Given the description of an element on the screen output the (x, y) to click on. 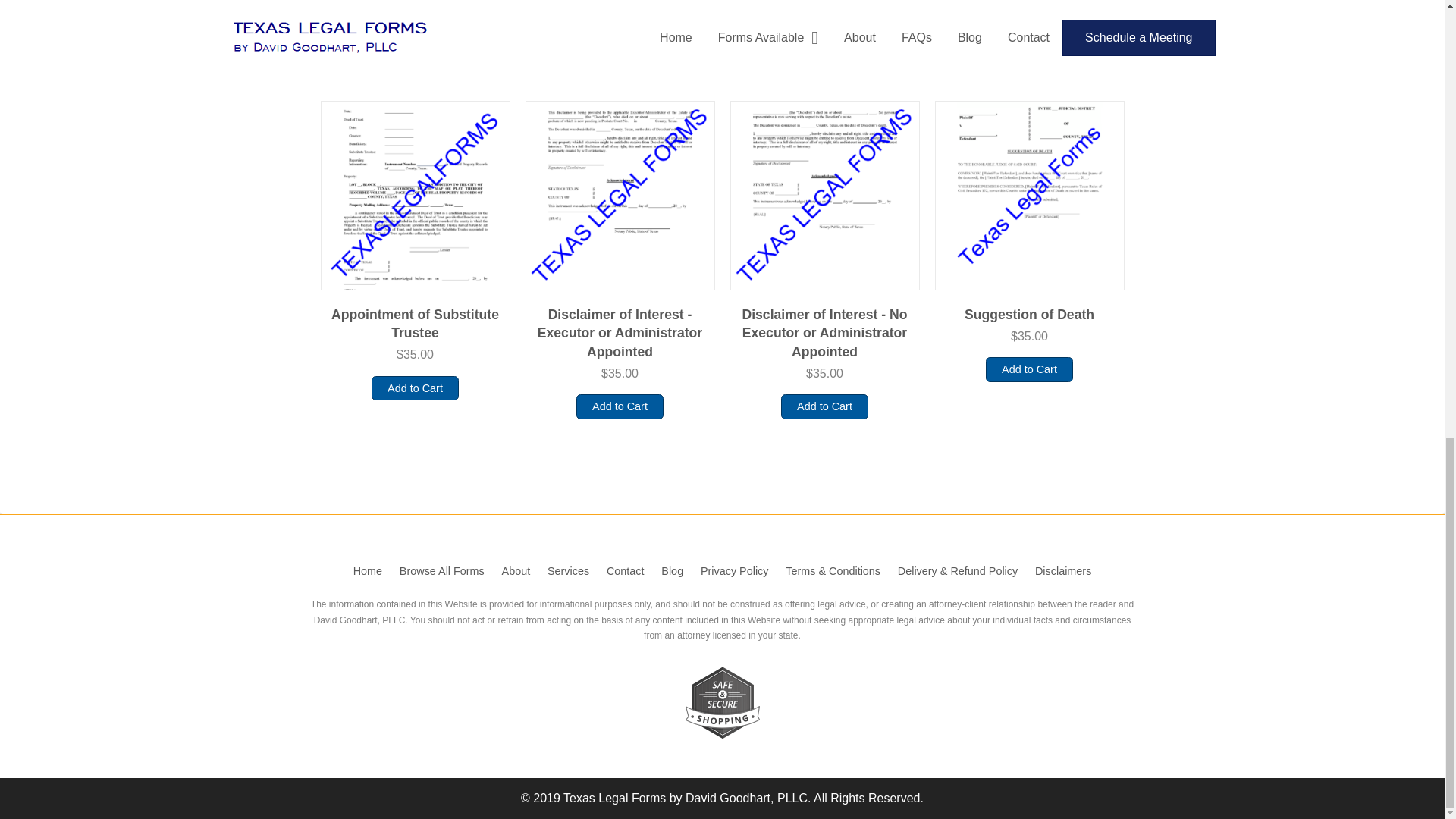
Add to Cart (823, 405)
Home (366, 570)
About (515, 570)
Add to Cart (414, 387)
Browse All Forms (441, 570)
Add to Cart (619, 405)
Add to Cart (1029, 369)
Services (568, 570)
